Given the description of an element on the screen output the (x, y) to click on. 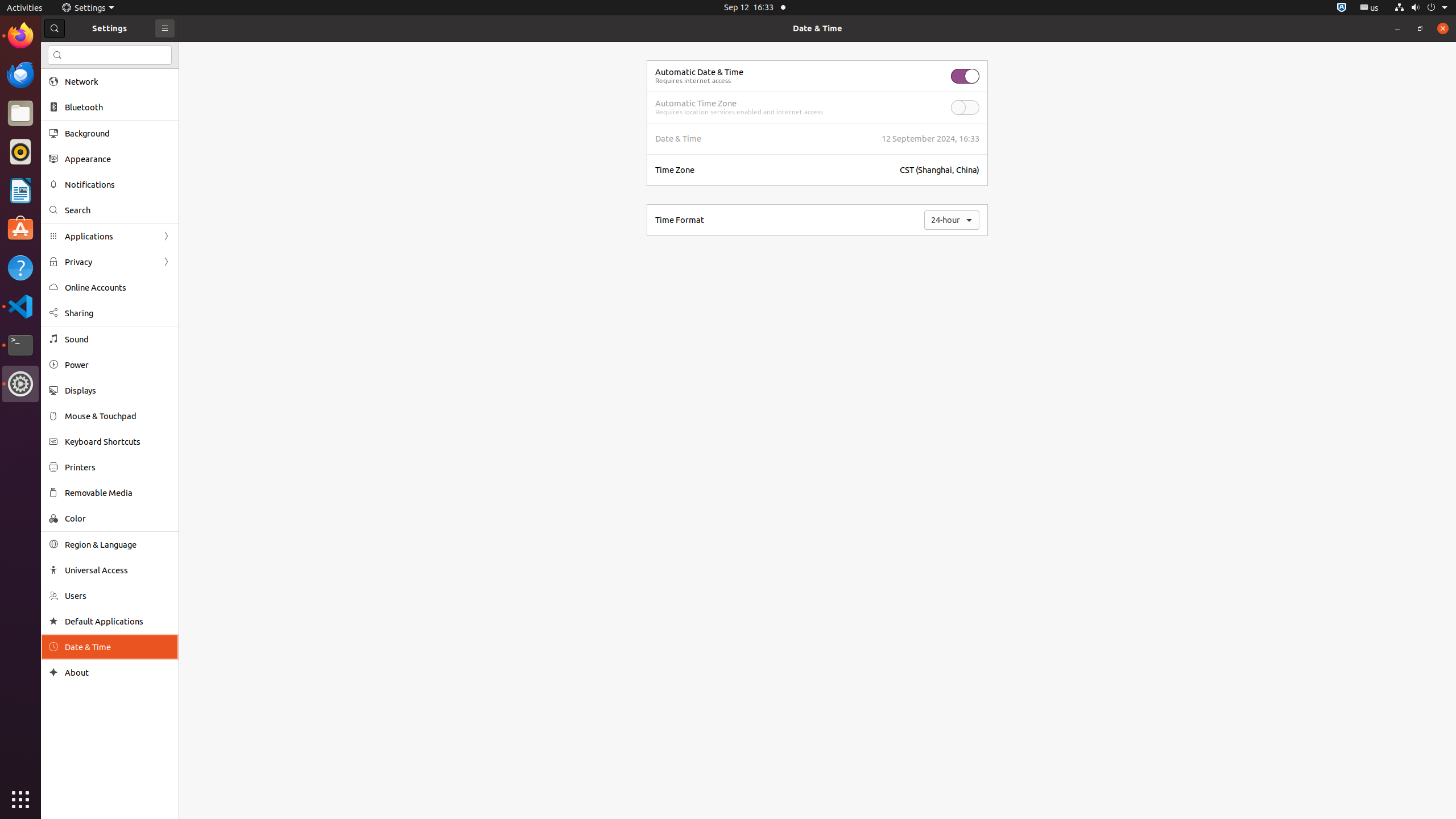
Applications Element type: label (109, 236)
Minimize Element type: push-button (1397, 27)
Online Accounts Element type: label (117, 287)
Keyboard Shortcuts Element type: label (117, 441)
Power Element type: label (117, 364)
